Given the description of an element on the screen output the (x, y) to click on. 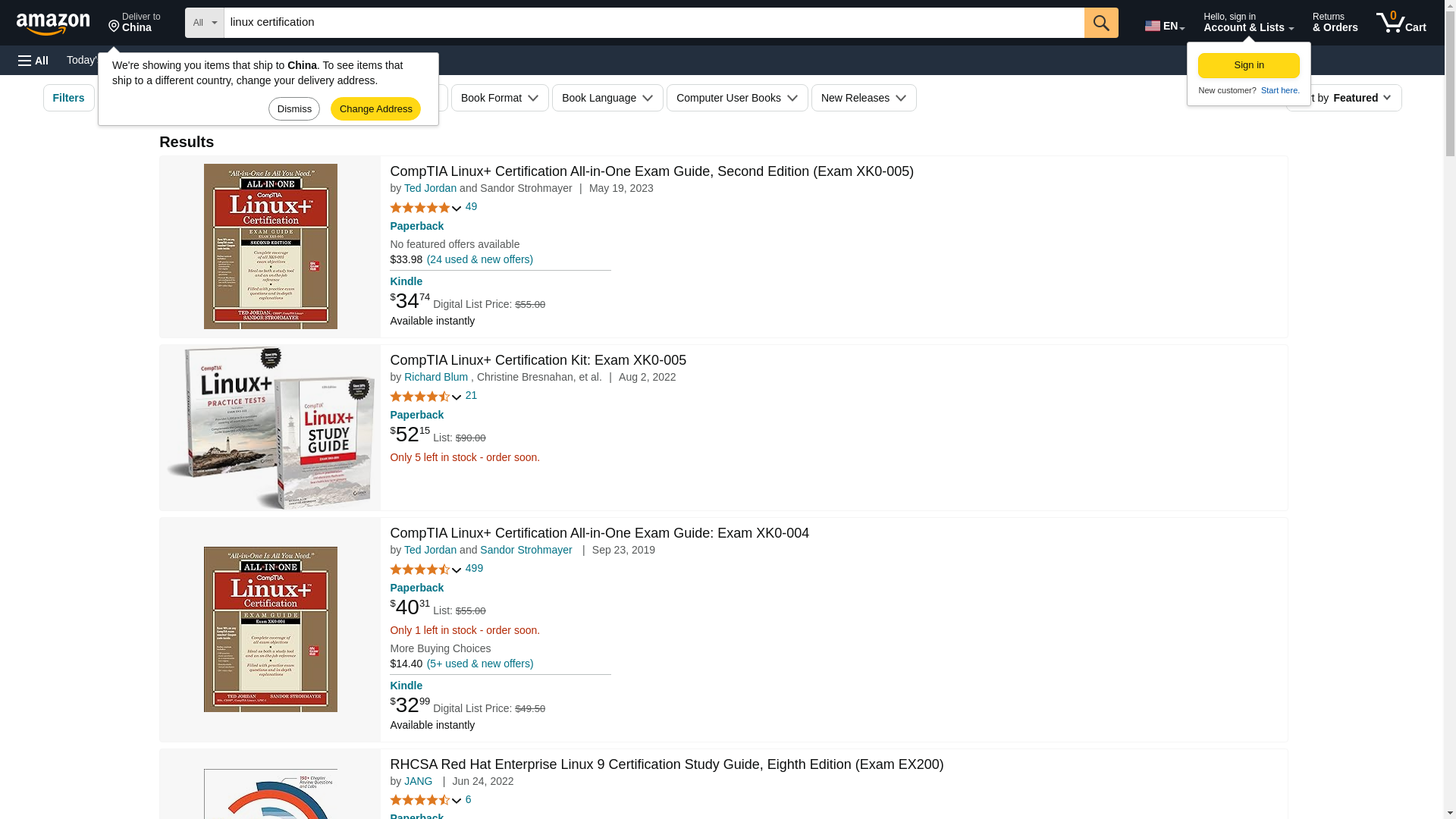
All (33, 60)
Sell (384, 59)
Go (1101, 22)
Kindle Unlimited Eligible (381, 97)
Today's Deals (99, 59)
Start here. (1279, 90)
Customer Service (1401, 22)
Gift Cards (192, 59)
Registry (333, 59)
